Given the description of an element on the screen output the (x, y) to click on. 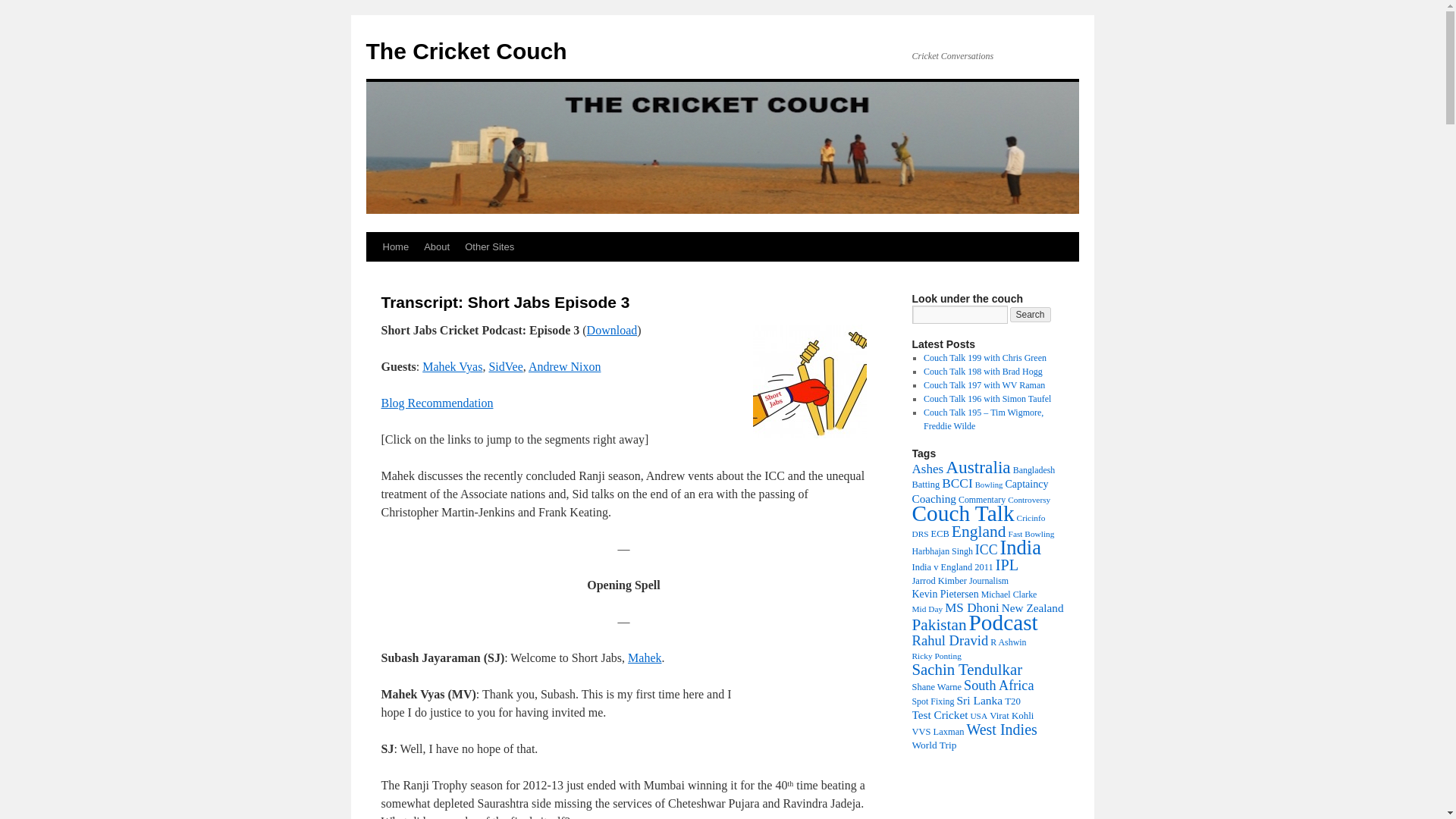
Couch Talk 199 with Chris Green (984, 357)
Couch Talk (962, 513)
Coaching (933, 498)
Commentary (982, 499)
Couch Talk 197 with WV Raman (984, 385)
Couch Talk 196 with Simon Taufel (987, 398)
The Cricket Couch (465, 50)
SidVee (504, 366)
Mahek (644, 657)
Cricinfo (1030, 517)
